Given the description of an element on the screen output the (x, y) to click on. 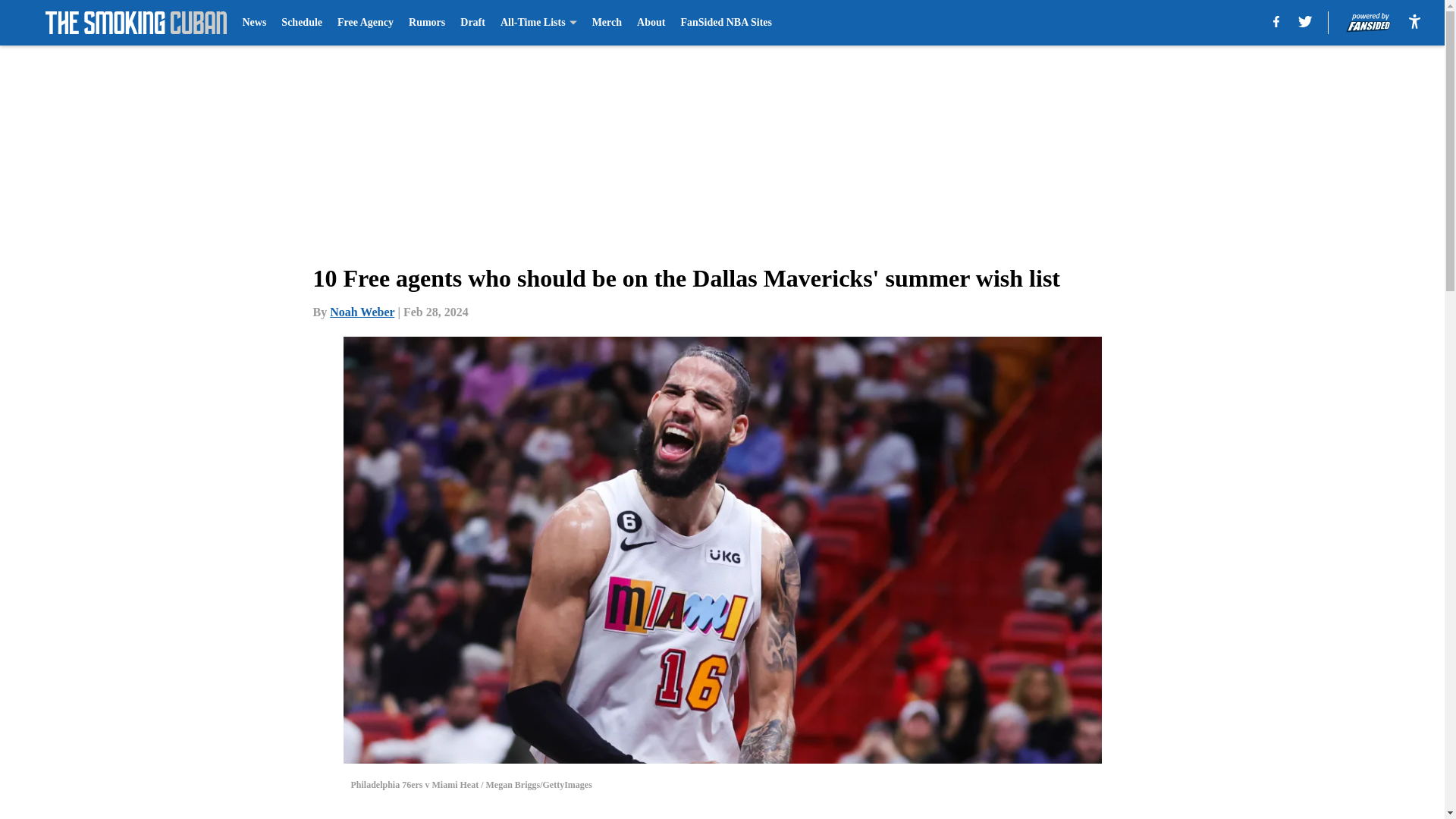
News (253, 22)
Free Agency (365, 22)
Draft (472, 22)
Schedule (301, 22)
Noah Weber (362, 311)
FanSided NBA Sites (725, 22)
Rumors (427, 22)
Merch (606, 22)
About (651, 22)
